Given the description of an element on the screen output the (x, y) to click on. 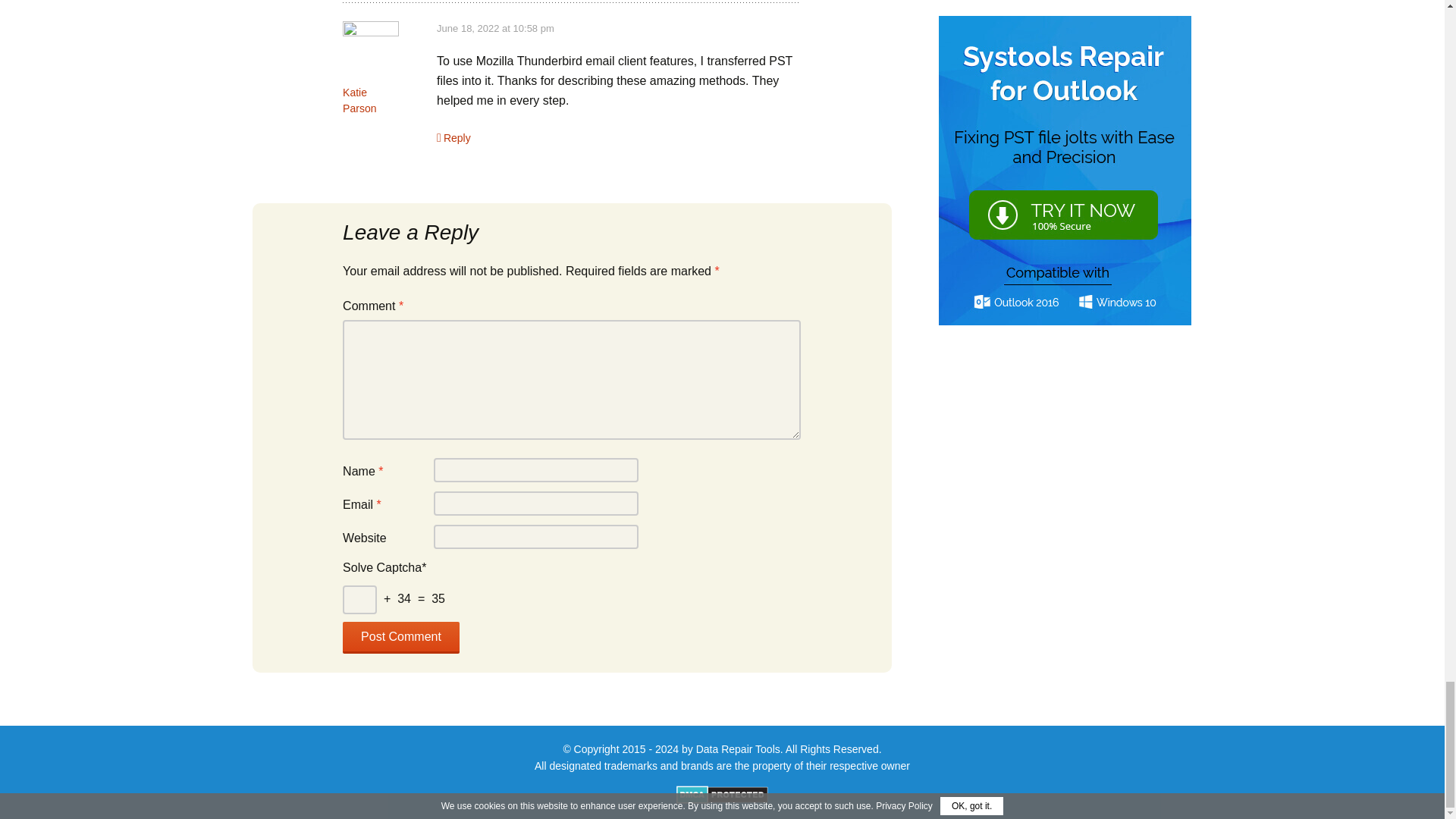
Post Comment (401, 637)
Post Comment (401, 637)
Reply (453, 137)
June 18, 2022 at 10:58 pm (495, 28)
